Given the description of an element on the screen output the (x, y) to click on. 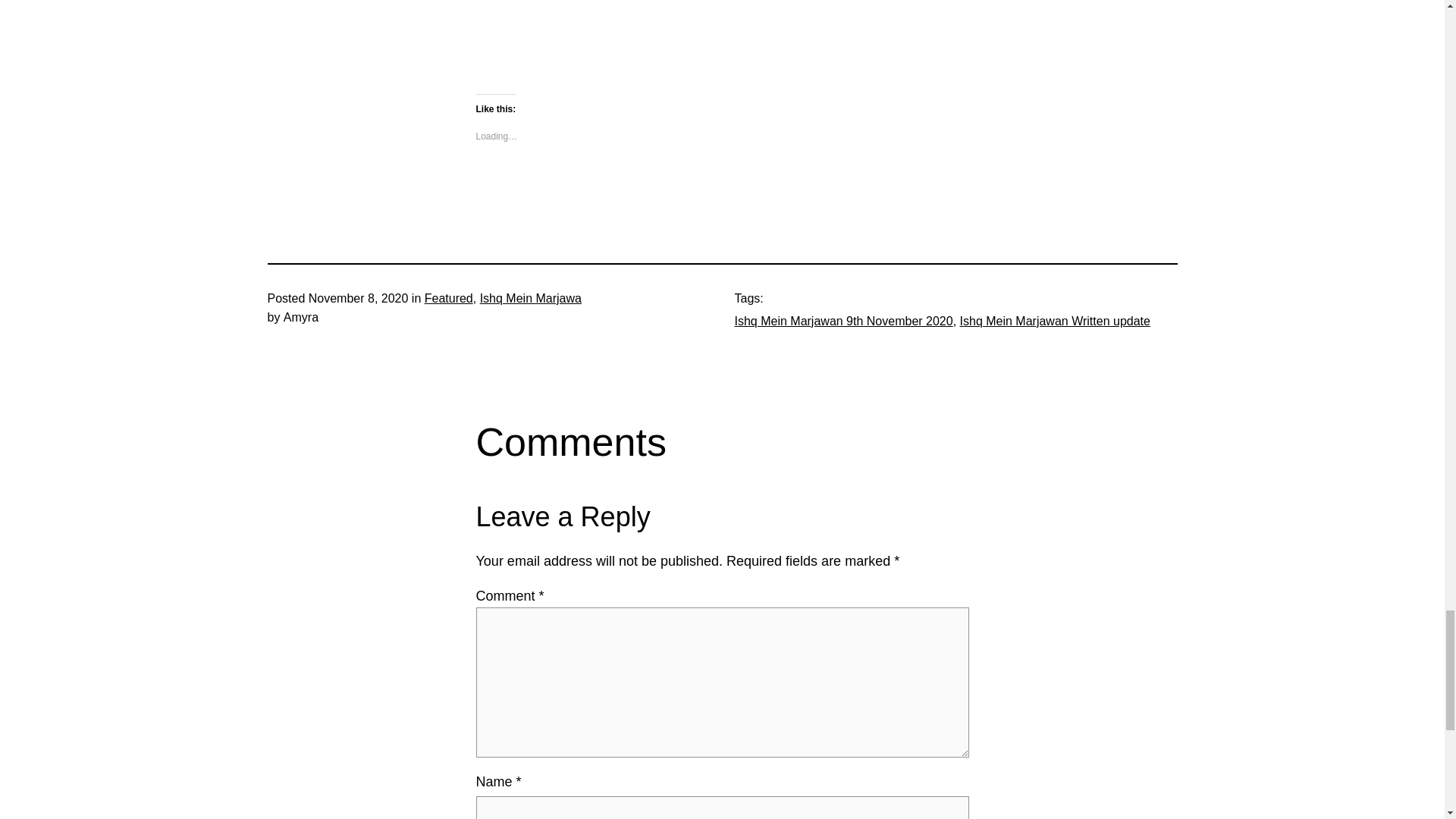
Ishq Mein Marjawa (530, 297)
Ishq Mein Marjawan Written update (1054, 320)
Featured (449, 297)
Ishq Mein Marjawan 9th November 2020 (842, 320)
Ishq Mein Marjawan Full episode today 9th November 2020 (666, 34)
